Given the description of an element on the screen output the (x, y) to click on. 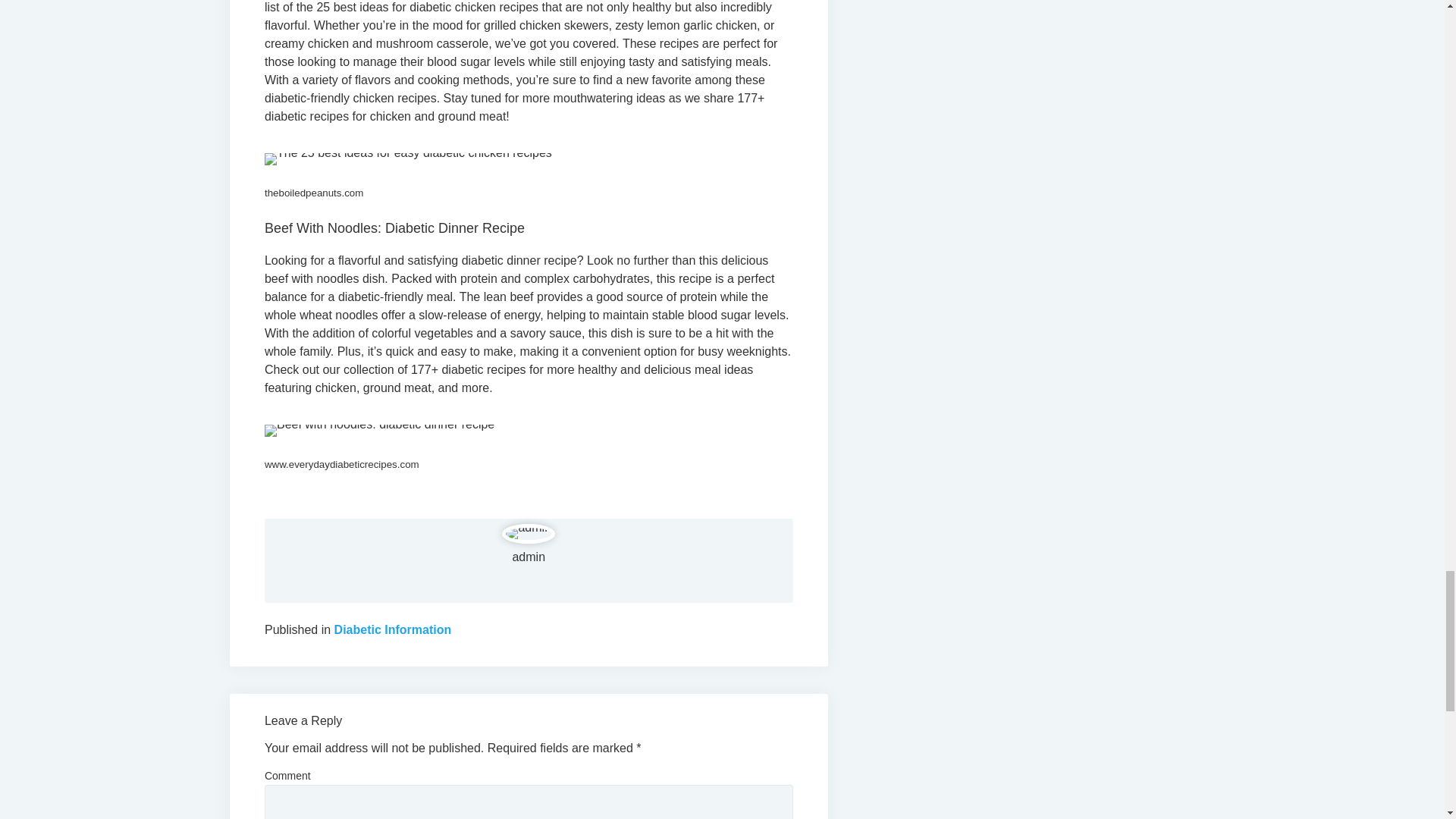
View all posts in Diabetic Information (392, 629)
admin (528, 556)
Diabetic Information (392, 629)
